Given the description of an element on the screen output the (x, y) to click on. 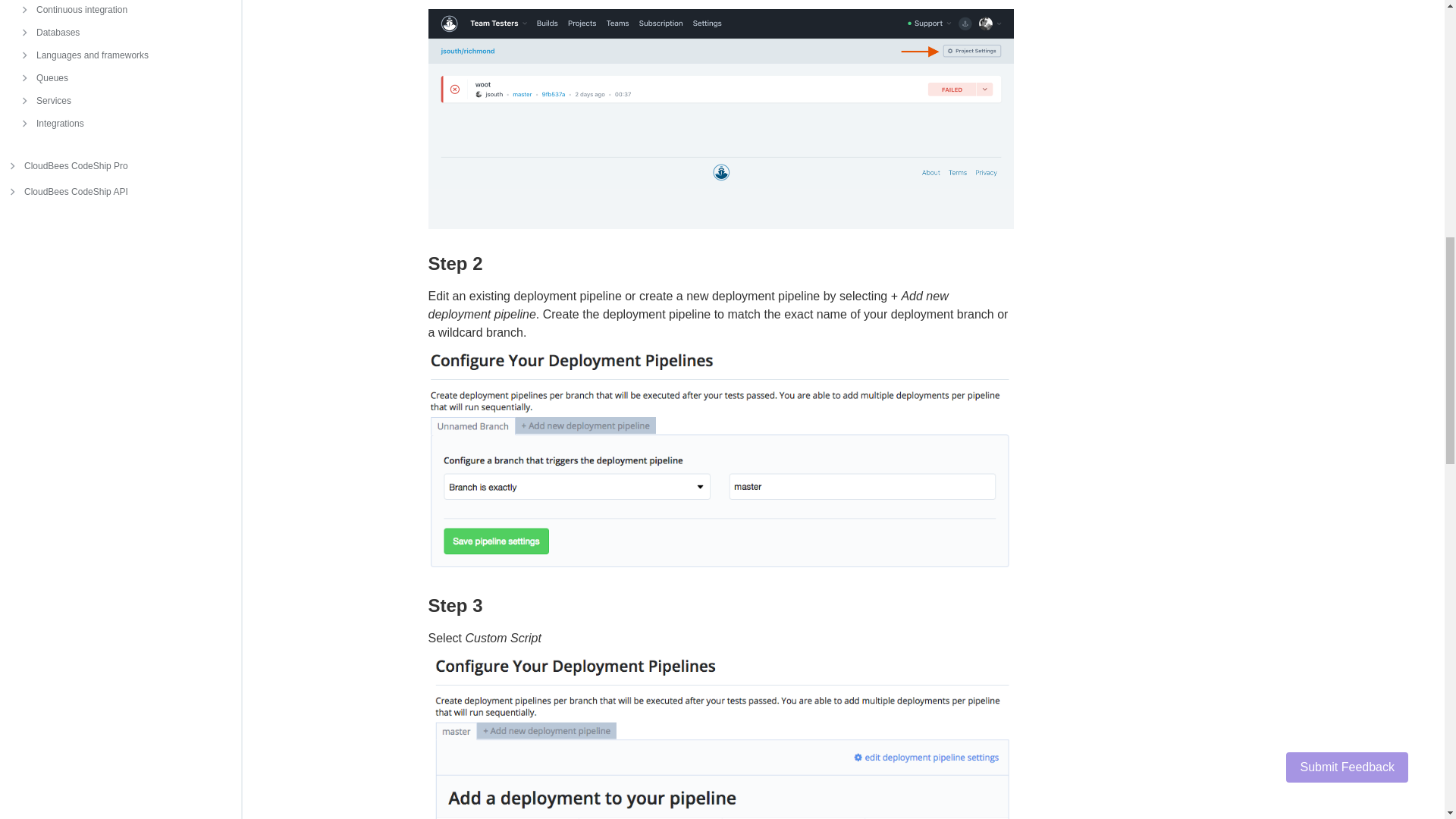
Languages and frameworks (114, 55)
Databases (114, 32)
Queues (114, 77)
Services (114, 100)
CloudBees CodeShip Pro (120, 166)
Continuous integration (114, 10)
Integrations (114, 123)
